Given the description of an element on the screen output the (x, y) to click on. 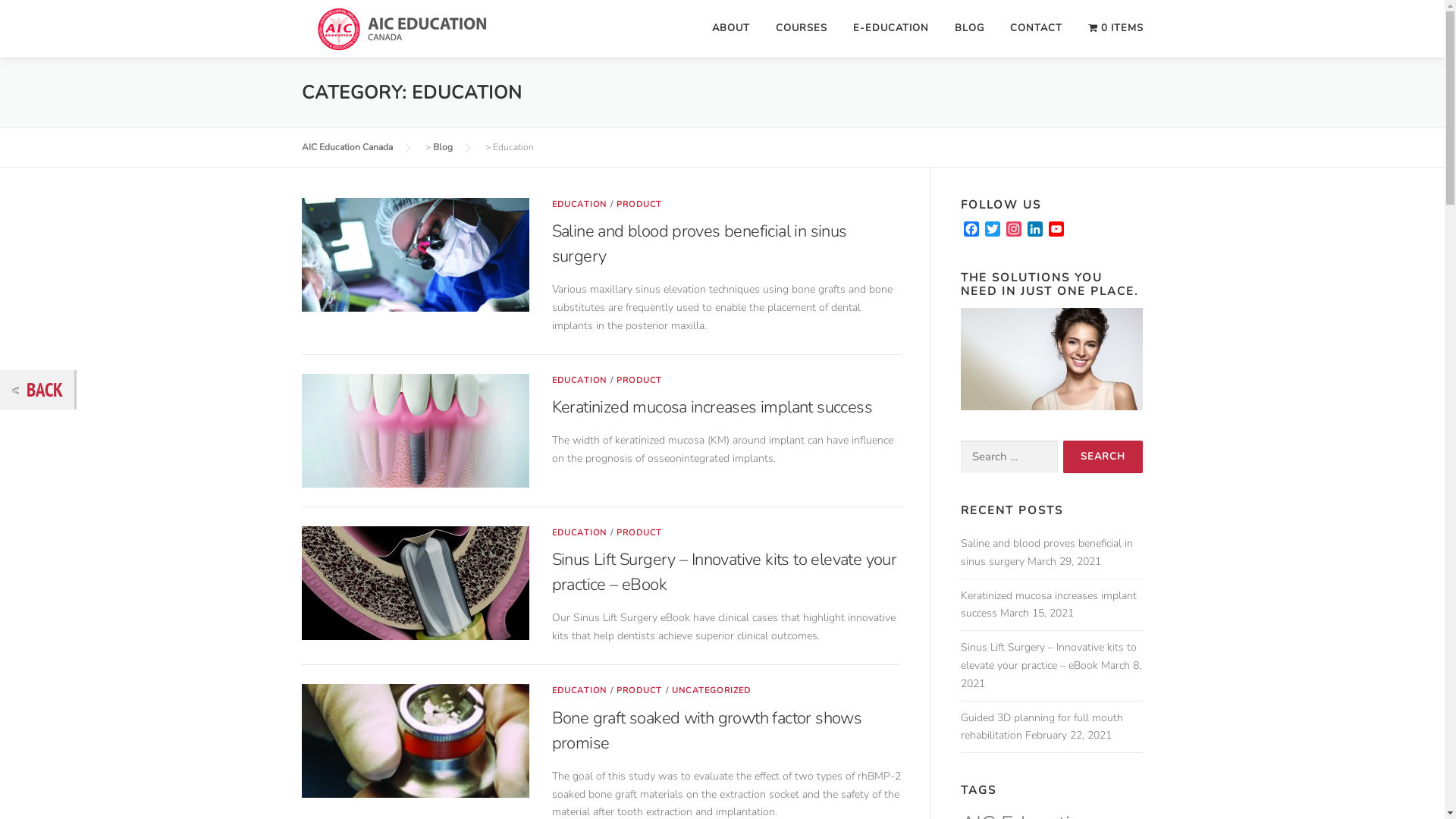
YouTube Channel Element type: text (1055, 230)
0 ITEMS Element type: text (1108, 28)
LinkedIn Element type: text (1033, 230)
Saline and blood proves beneficial in sinus surgery Element type: text (1046, 552)
PRODUCT Element type: text (639, 690)
CONTACT Element type: text (1036, 28)
EDUCATION Element type: text (579, 532)
ABOUT Element type: text (730, 28)
PRODUCT Element type: text (639, 532)
BLOG Element type: text (969, 28)
Keratinized mucosa increases implant success Element type: text (1047, 604)
EDUCATION Element type: text (579, 204)
Blog Element type: text (441, 147)
PRODUCT Element type: text (639, 204)
Instagram Element type: text (1012, 230)
Twitter Element type: text (991, 230)
AIC Education Canada Element type: text (346, 147)
E-EDUCATION Element type: text (890, 28)
EDUCATION Element type: text (579, 690)
PRODUCT Element type: text (639, 379)
Search Element type: text (1102, 456)
EDUCATION Element type: text (579, 379)
UNCATEGORIZED Element type: text (711, 690)
Bone graft soaked with growth factor shows promise Element type: text (707, 730)
Saline and blood proves beneficial in sinus surgery Element type: text (699, 243)
COURSES Element type: text (801, 28)
Facebook Element type: text (970, 230)
BACK Element type: text (36, 389)
Guided 3D planning for full mouth rehabilitation Element type: text (1041, 726)
Keratinized mucosa increases implant success Element type: text (712, 406)
